Given the description of an element on the screen output the (x, y) to click on. 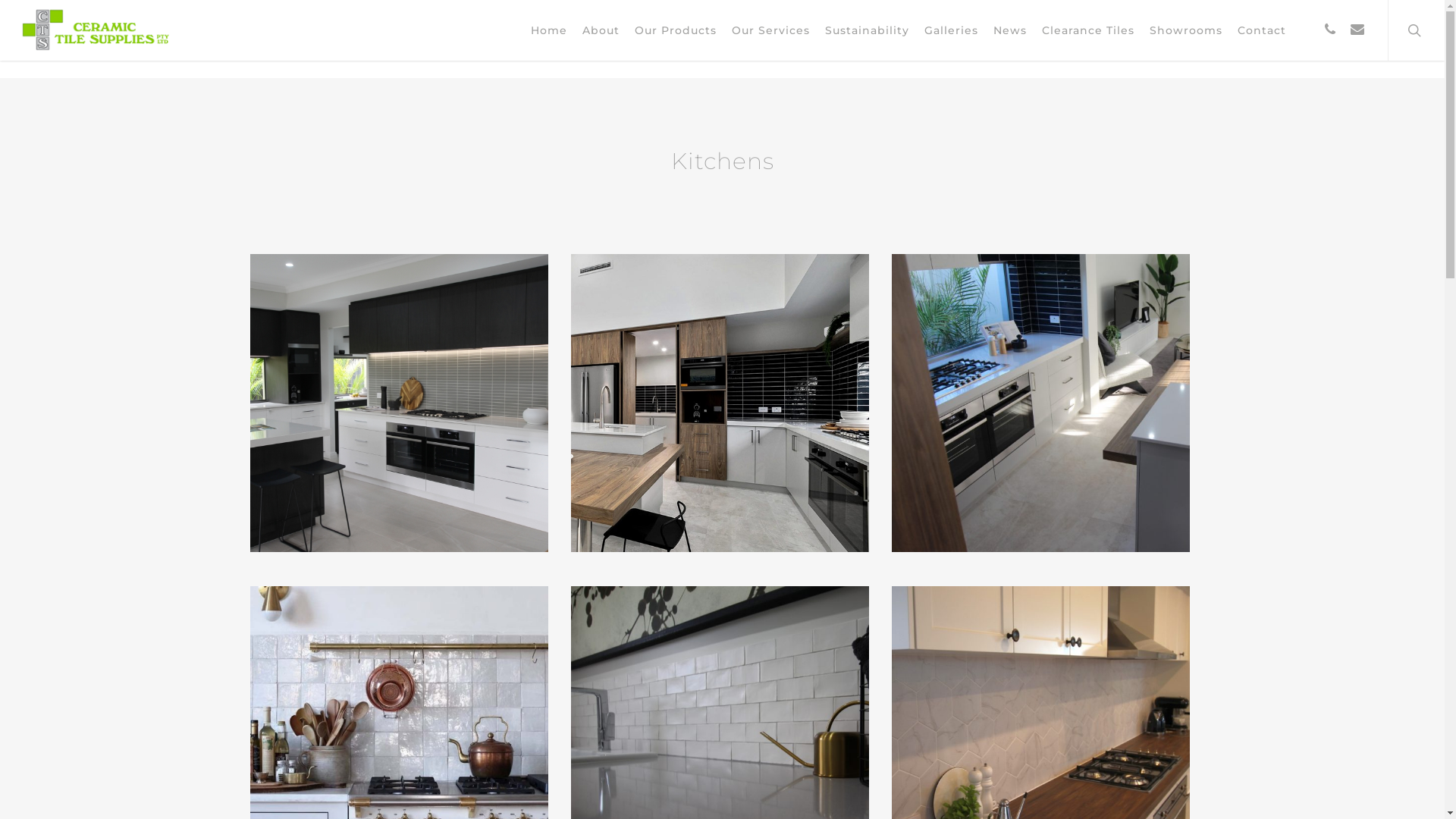
Showrooms Element type: text (1186, 30)
Home Element type: text (548, 30)
Our Services Element type: text (770, 30)
phone Element type: text (1329, 29)
email Element type: text (1357, 29)
Galleries Element type: text (950, 30)
News Element type: text (1009, 30)
Clearance Tiles Element type: text (1088, 30)
About Element type: text (600, 30)
search Element type: text (1415, 30)
Sustainability Element type: text (866, 30)
Contact Element type: text (1261, 30)
Our Products Element type: text (675, 30)
